Given the description of an element on the screen output the (x, y) to click on. 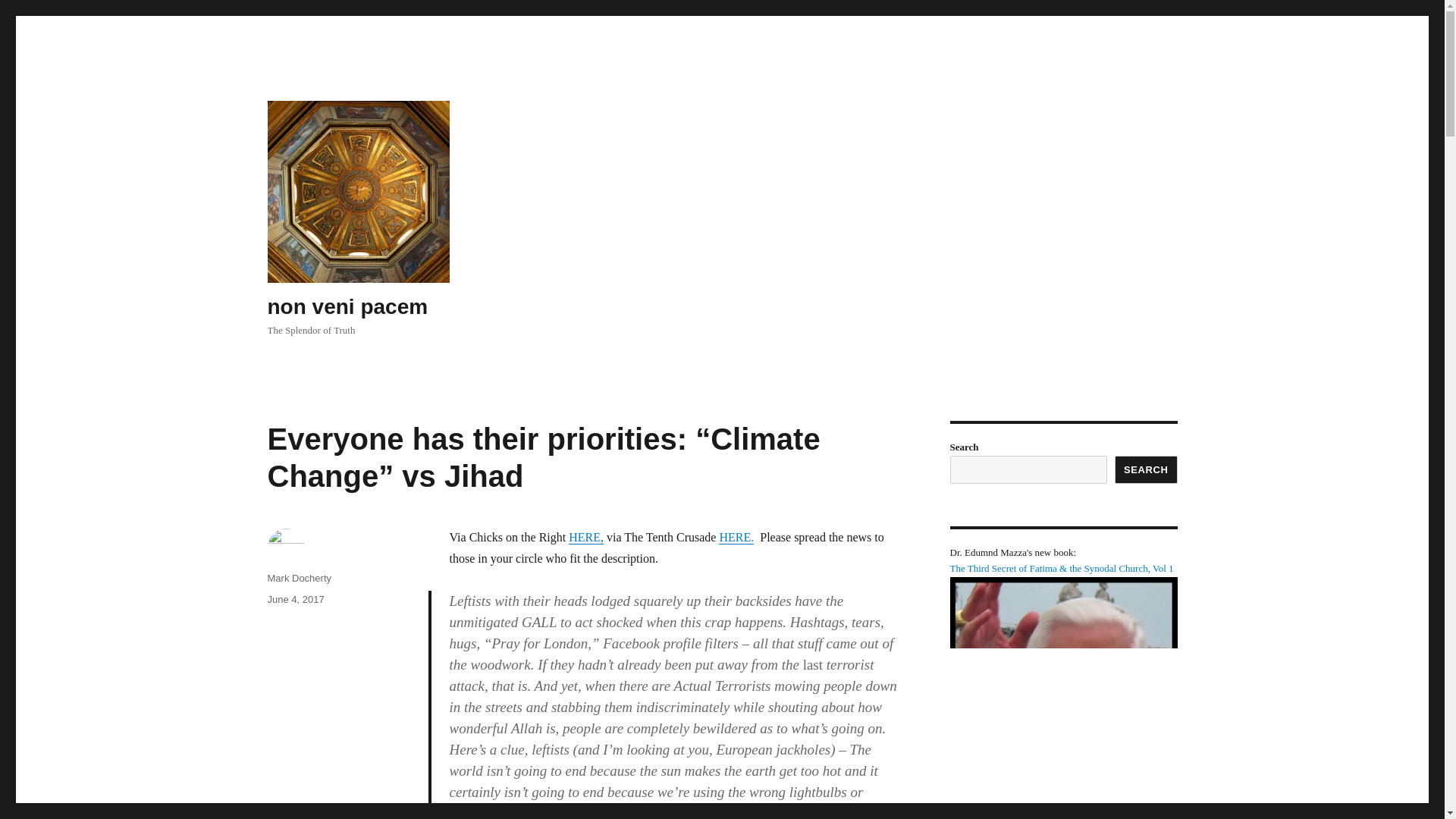
June 4, 2017 (294, 599)
HERE, (586, 536)
non veni pacem (347, 306)
HERE. (736, 536)
Mark Docherty (298, 577)
